Given the description of an element on the screen output the (x, y) to click on. 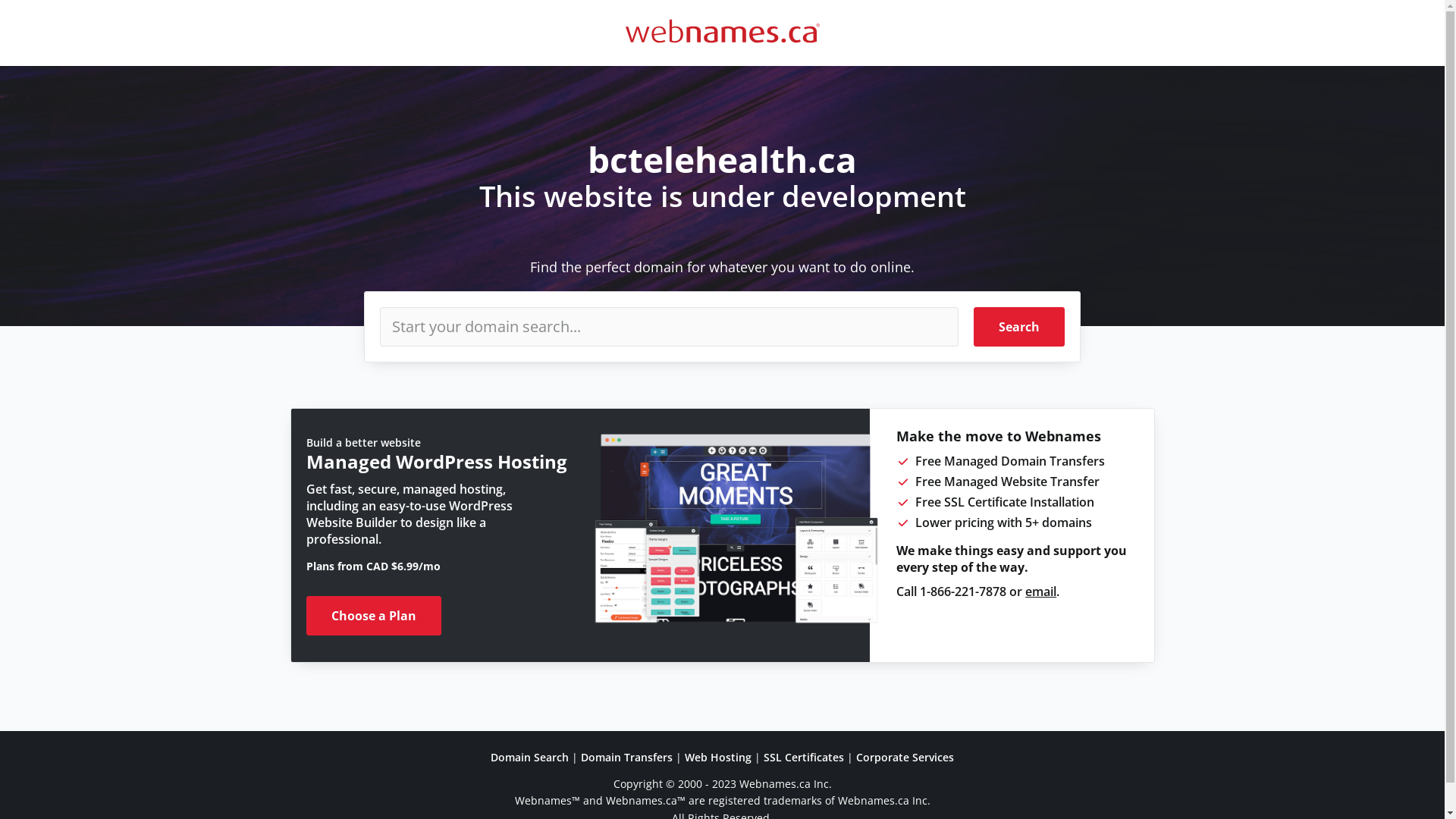
Domain Search Element type: text (529, 756)
email Element type: text (1040, 591)
Search Element type: text (1018, 326)
Choose a Plan Element type: text (373, 615)
1-866-221-7878 Element type: text (962, 591)
Corporate Services Element type: text (904, 756)
Web Hosting Element type: text (717, 756)
Domain Transfers Element type: text (626, 756)
SSL Certificates Element type: text (803, 756)
